Given the description of an element on the screen output the (x, y) to click on. 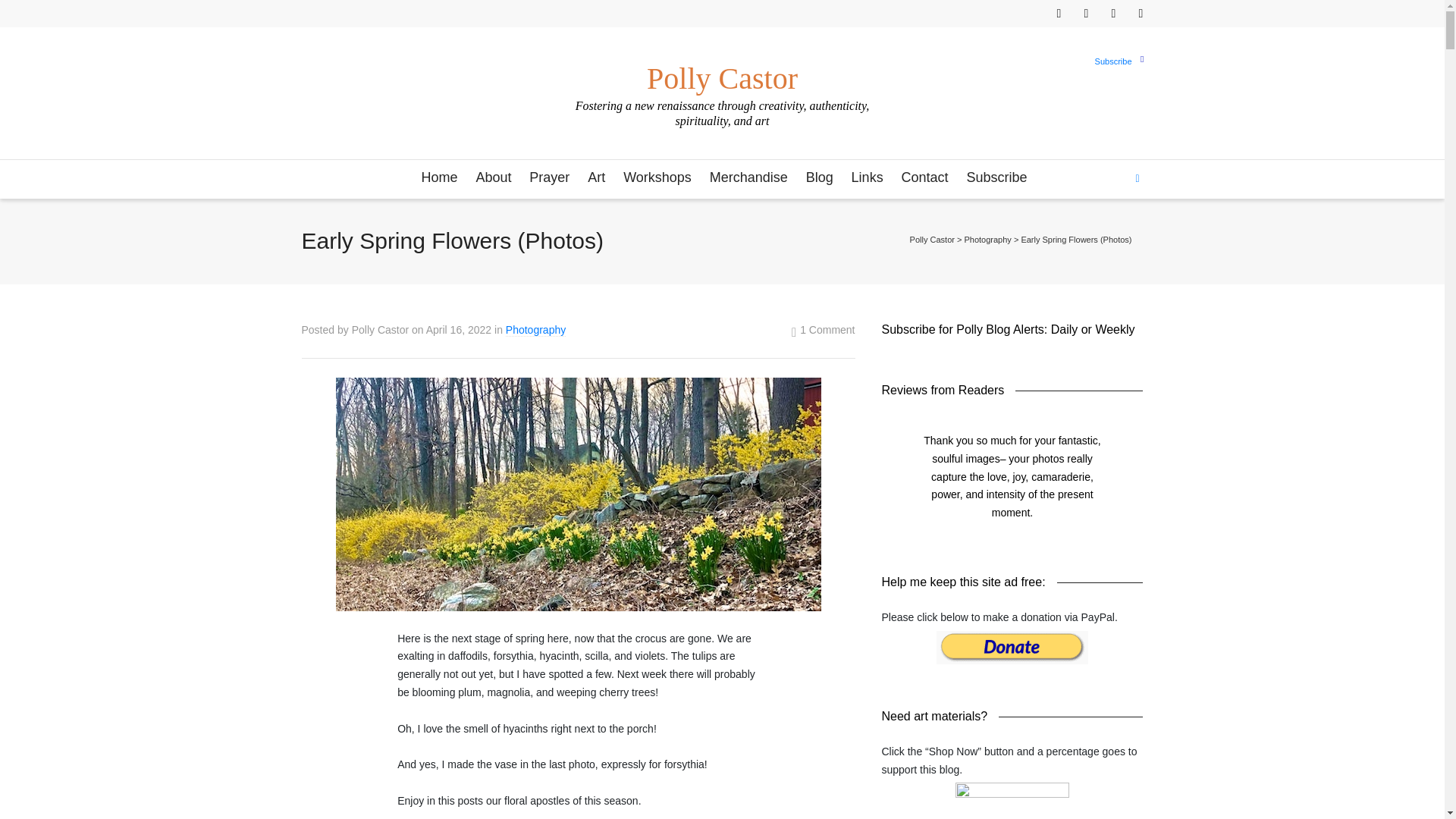
Polly Castor (721, 71)
Subscribe (1113, 61)
About (493, 178)
Go to the Photography Category archives. (986, 239)
Prayer (549, 178)
Go to Polly Castor. (932, 239)
Home (438, 178)
Merchandise (748, 178)
Workshops (657, 178)
